Given the description of an element on the screen output the (x, y) to click on. 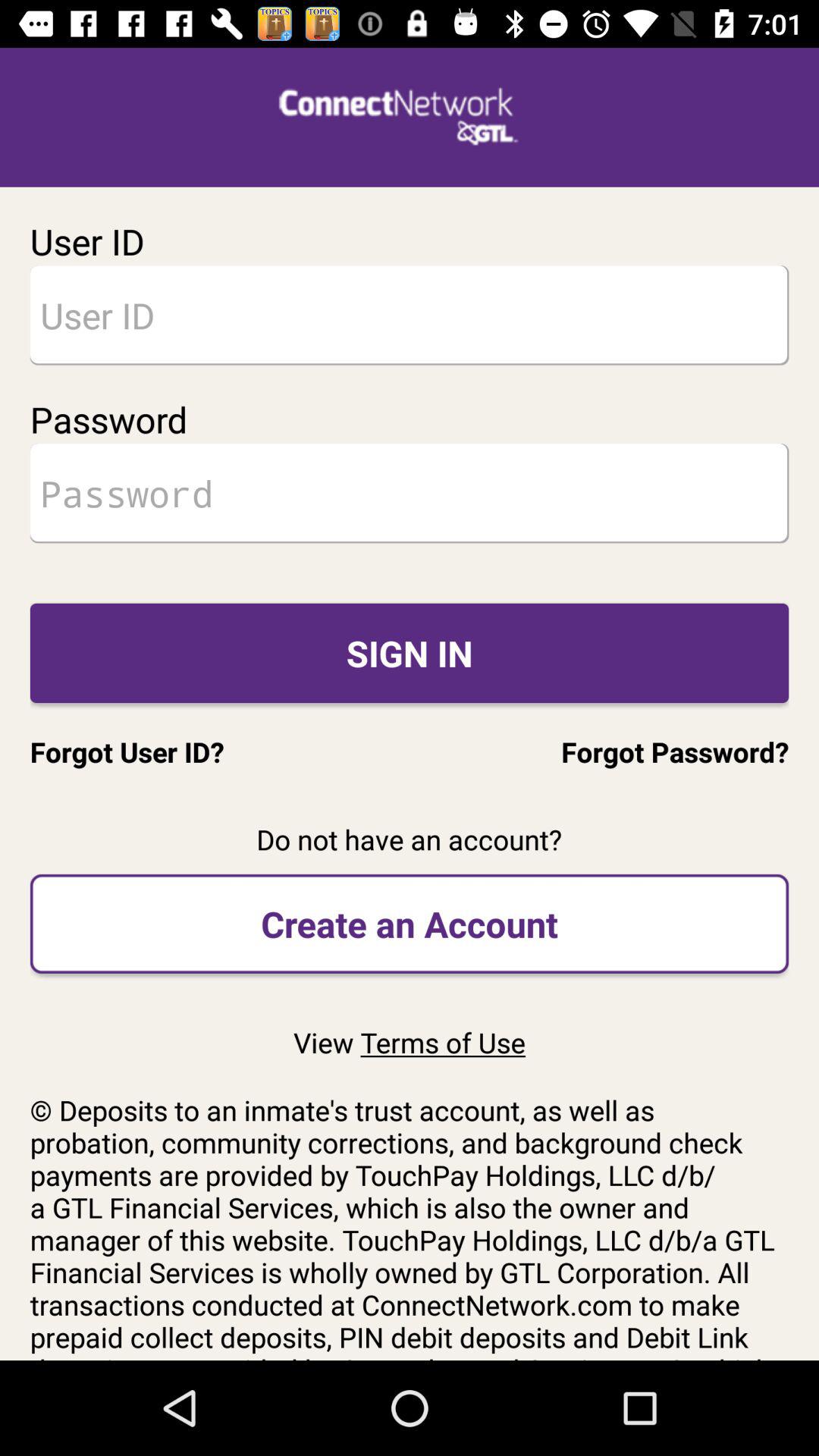
enter your user id (409, 315)
